Given the description of an element on the screen output the (x, y) to click on. 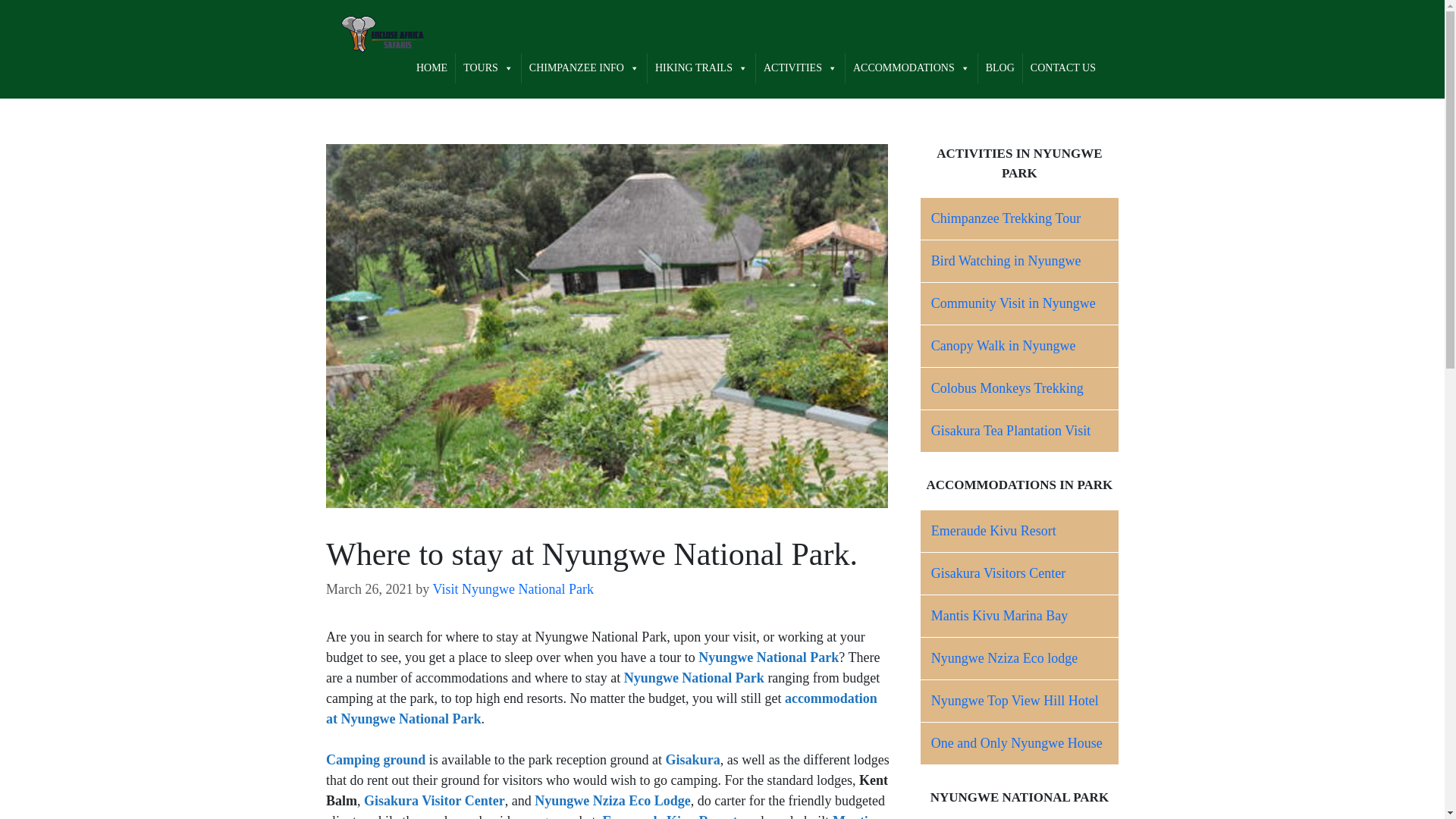
HIKING TRAILS (701, 68)
View all posts by Visit Nyungwe National Park (512, 589)
TOURS (488, 68)
ACTIVITIES (799, 68)
CHIMPANZEE INFO (583, 68)
HOME (431, 68)
